Given the description of an element on the screen output the (x, y) to click on. 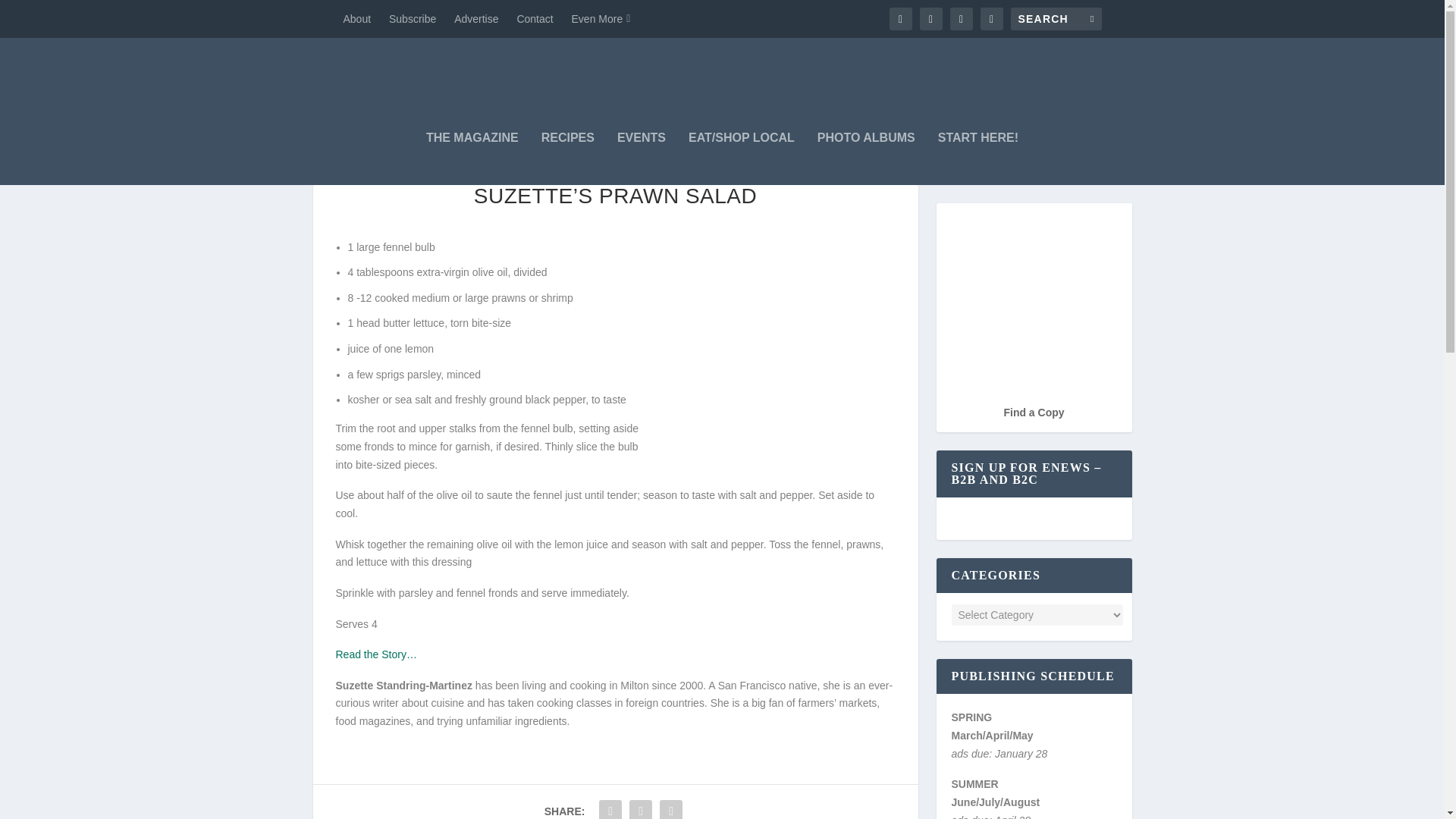
THE MAGAZINE (472, 158)
EVENTS (641, 158)
Even More (601, 18)
RECIPES (567, 158)
Find a Copy (1033, 412)
Subscribe (411, 18)
Advertise (475, 18)
Contact (534, 18)
Search for: (1055, 18)
PHOTO ALBUMS (865, 158)
